Given the description of an element on the screen output the (x, y) to click on. 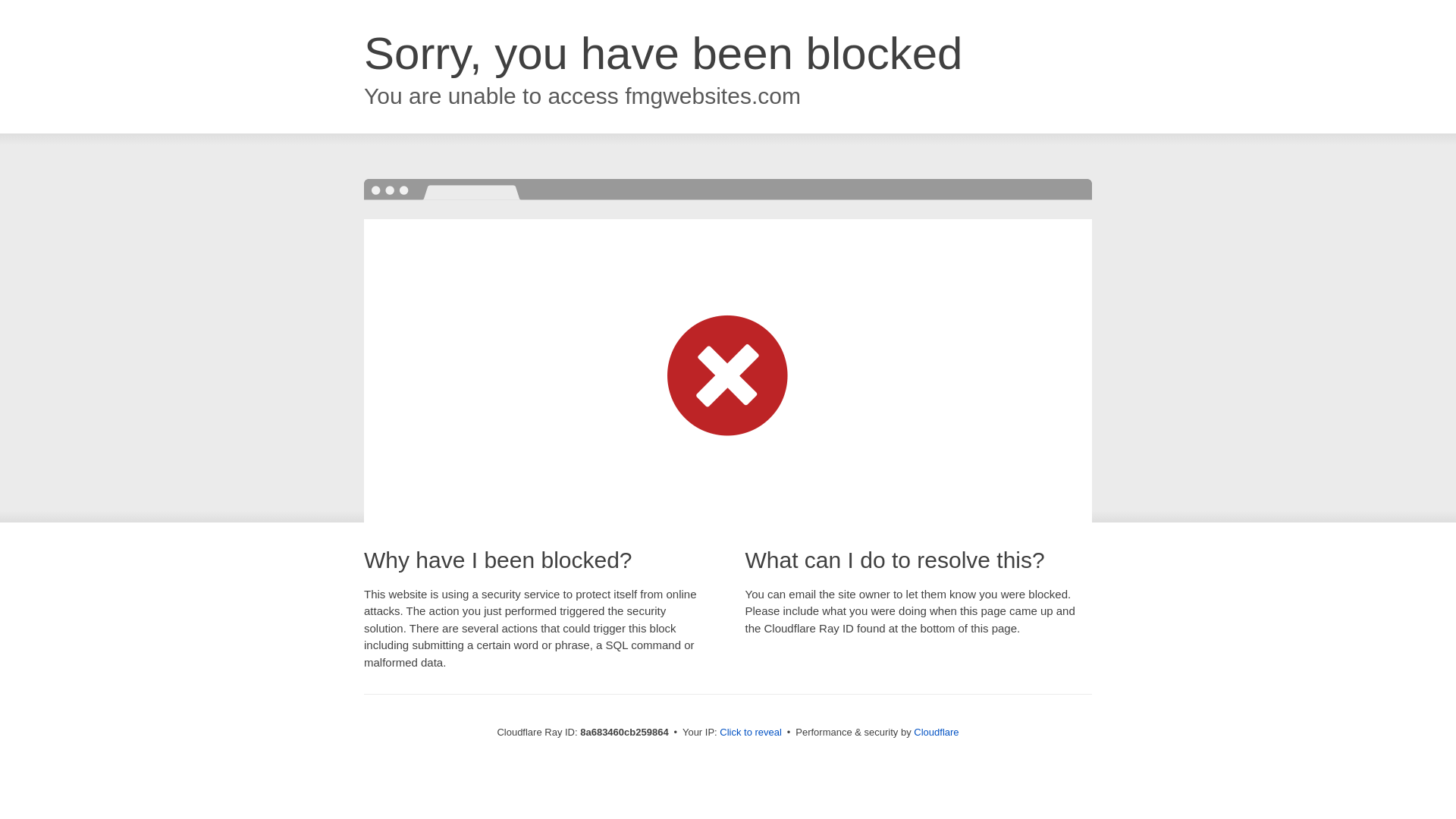
Click to reveal (750, 732)
Cloudflare (936, 731)
